Given the description of an element on the screen output the (x, y) to click on. 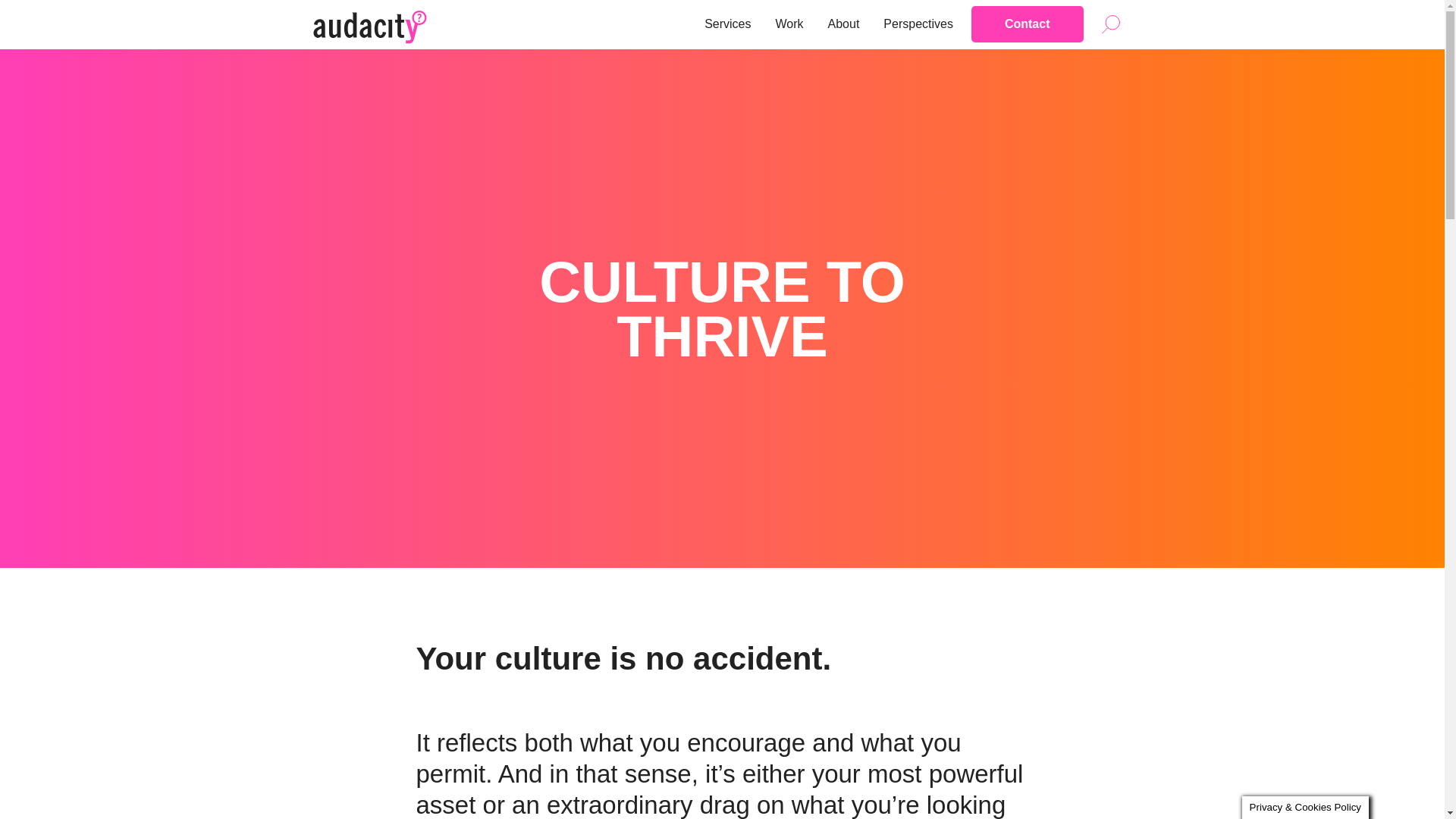
Perspectives (918, 23)
About (844, 23)
Contact (1027, 23)
Work (788, 23)
Services (727, 23)
